Given the description of an element on the screen output the (x, y) to click on. 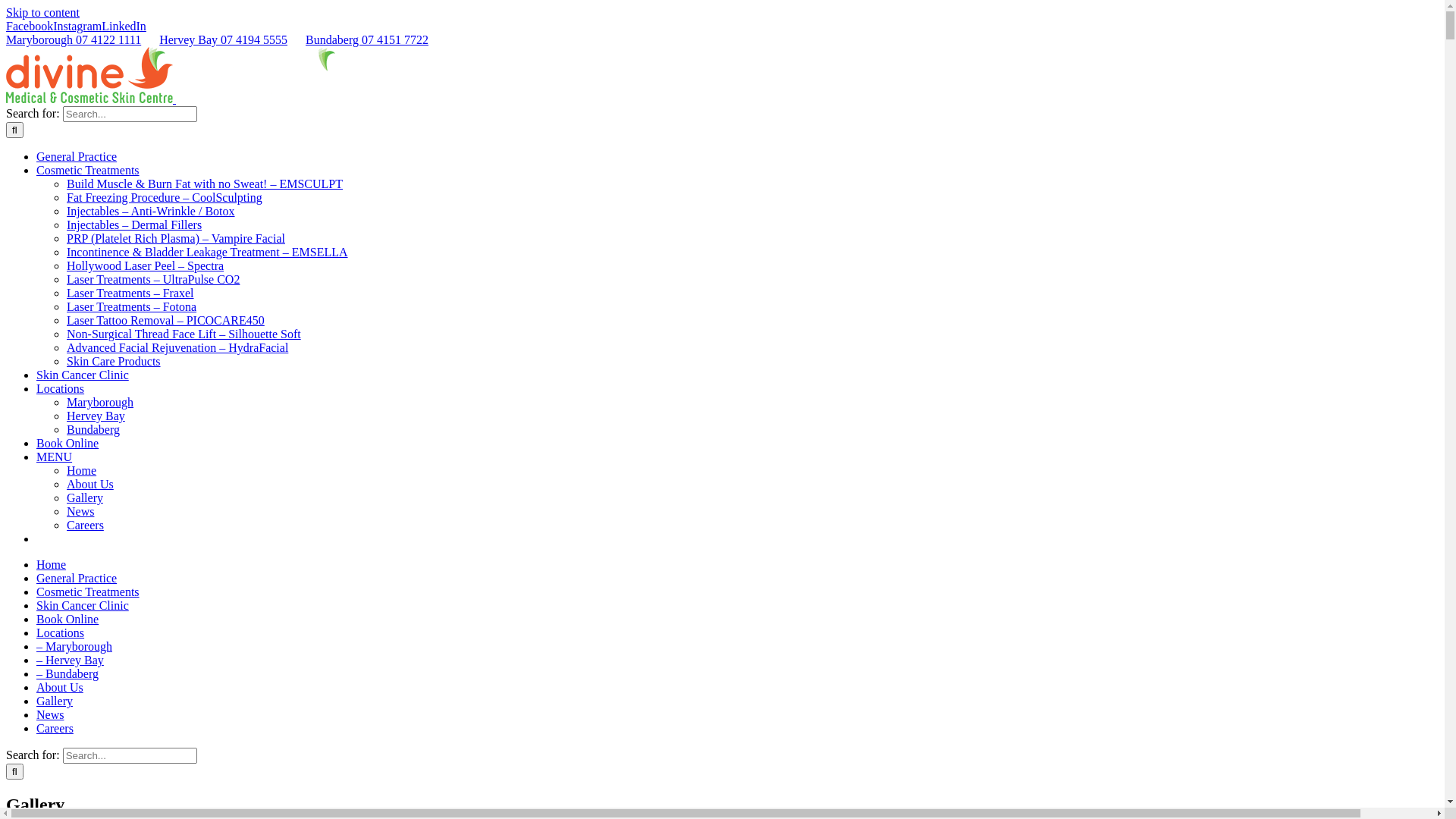
About Us Element type: text (59, 686)
Hervey Bay Element type: text (95, 415)
Maryborough Element type: text (99, 401)
Locations Element type: text (60, 632)
Skip to content Element type: text (42, 12)
LinkedIn Element type: text (123, 25)
General Practice Element type: text (76, 577)
Careers Element type: text (84, 524)
About Us Element type: text (89, 483)
Cosmetic Treatments Element type: text (87, 169)
Bundaberg Element type: text (92, 429)
Locations Element type: text (60, 388)
Home Element type: text (81, 470)
Gallery Element type: text (54, 700)
Cosmetic Treatments Element type: text (87, 591)
MENU Element type: text (54, 456)
Bundaberg 07 4151 7722 Element type: text (366, 39)
Instagram Element type: text (77, 25)
Book Online Element type: text (67, 618)
Home Element type: text (50, 564)
News Element type: text (80, 511)
Skin Care Products Element type: text (113, 360)
Careers Element type: text (54, 727)
Maryborough 07 4122 1111 Element type: text (73, 39)
Book Online Element type: text (67, 442)
News Element type: text (49, 714)
Facebook Element type: text (29, 25)
Hervey Bay 07 4194 5555 Element type: text (223, 39)
General Practice Element type: text (76, 156)
Skin Cancer Clinic Element type: text (82, 374)
Skin Cancer Clinic Element type: text (82, 605)
Gallery Element type: text (84, 497)
